Given the description of an element on the screen output the (x, y) to click on. 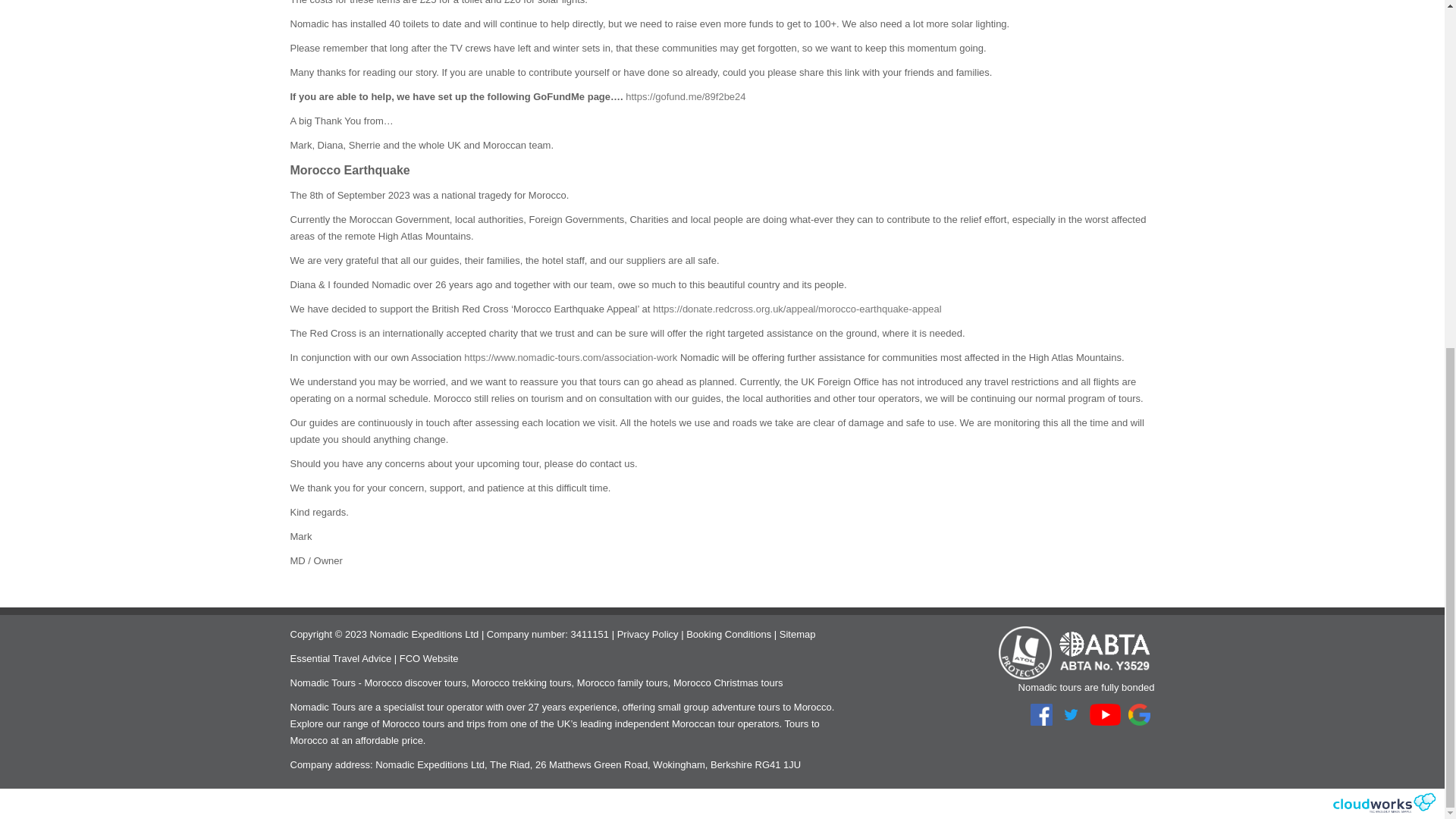
Twitter (1070, 713)
ATOL (1024, 651)
Facebook (1041, 713)
Cloud-Works Solutions Ltd (1383, 802)
ABTA Y3529 (1104, 651)
You Tube (1105, 713)
